Given the description of an element on the screen output the (x, y) to click on. 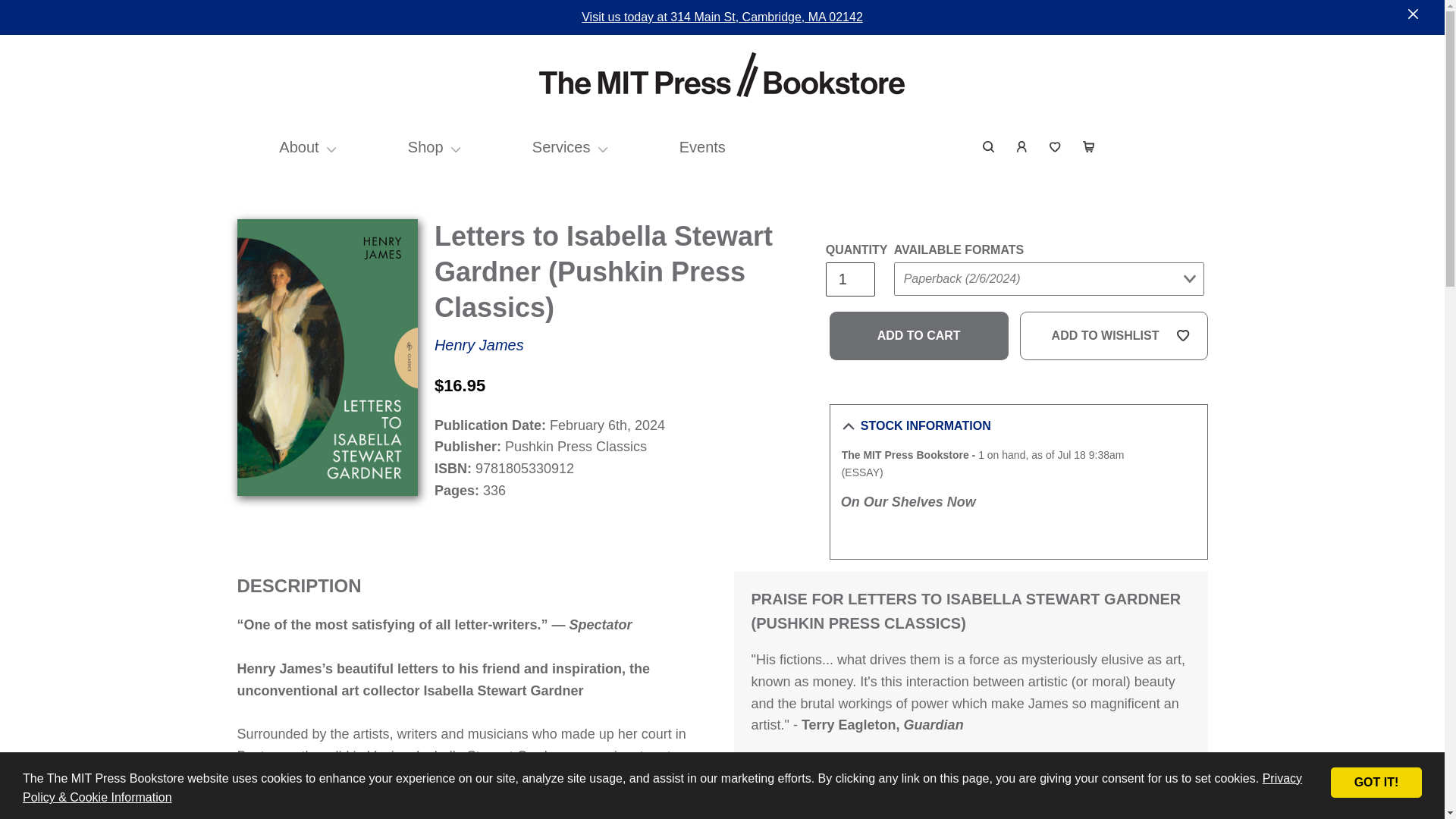
Log in (1022, 146)
SHOP SUB-NAVIGATION (456, 146)
Events (702, 146)
SEARCH (989, 146)
Add to cart (919, 336)
Shop for books (425, 146)
ABOUT SUB-NAVIGATION (331, 146)
Search (989, 146)
Visit us today at 314 Main St, Cambridge, MA 02142 (721, 16)
Henry James (478, 344)
About the MIT Press Bookstore (298, 146)
Services (561, 146)
ADD TO WISHLIST (1114, 336)
Log in (1022, 146)
Submit (1169, 135)
